Given the description of an element on the screen output the (x, y) to click on. 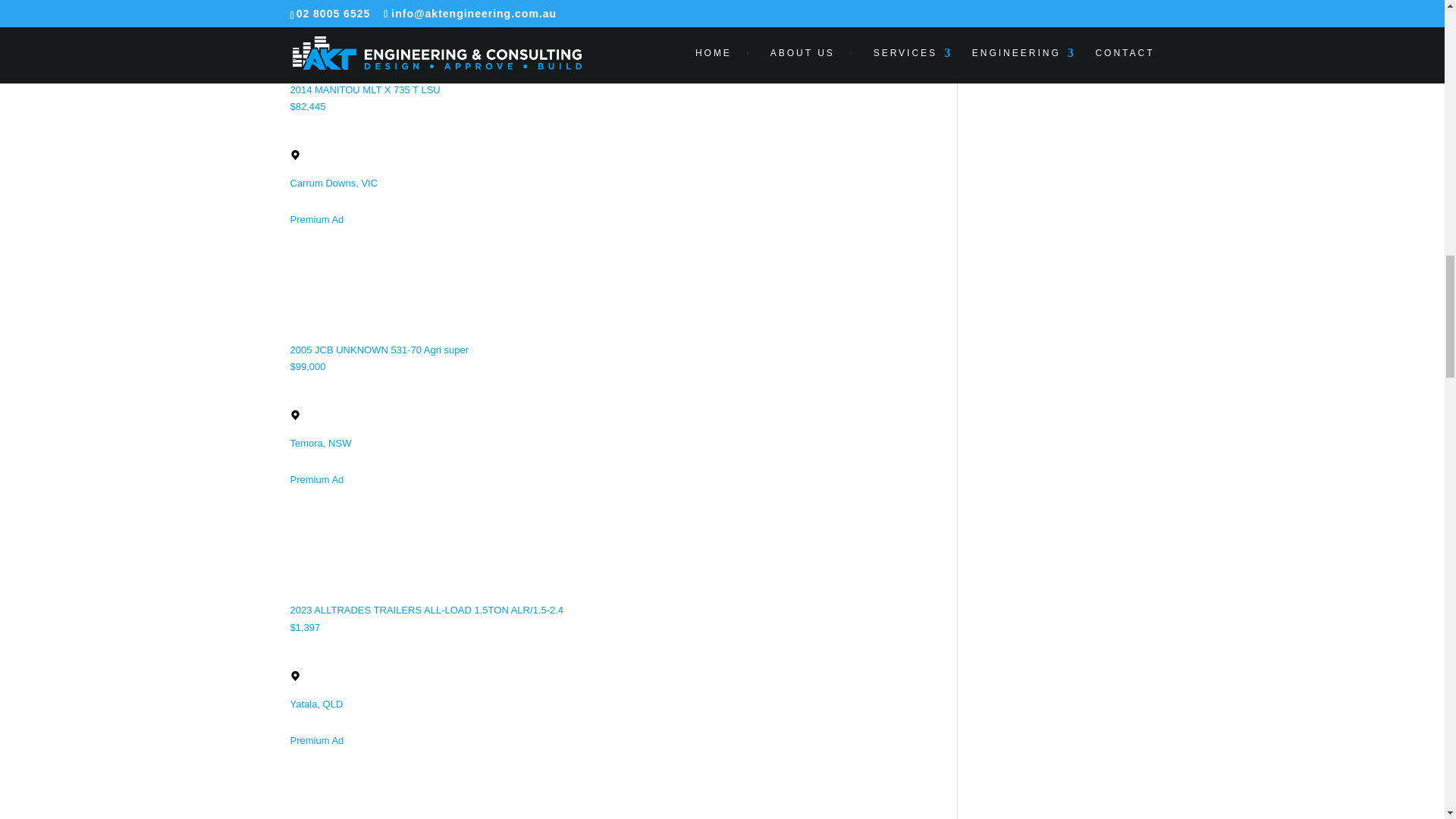
Location marker The shape of a location marker (294, 675)
Location marker The shape of a location marker (294, 415)
Location marker The shape of a location marker (294, 154)
